Given the description of an element on the screen output the (x, y) to click on. 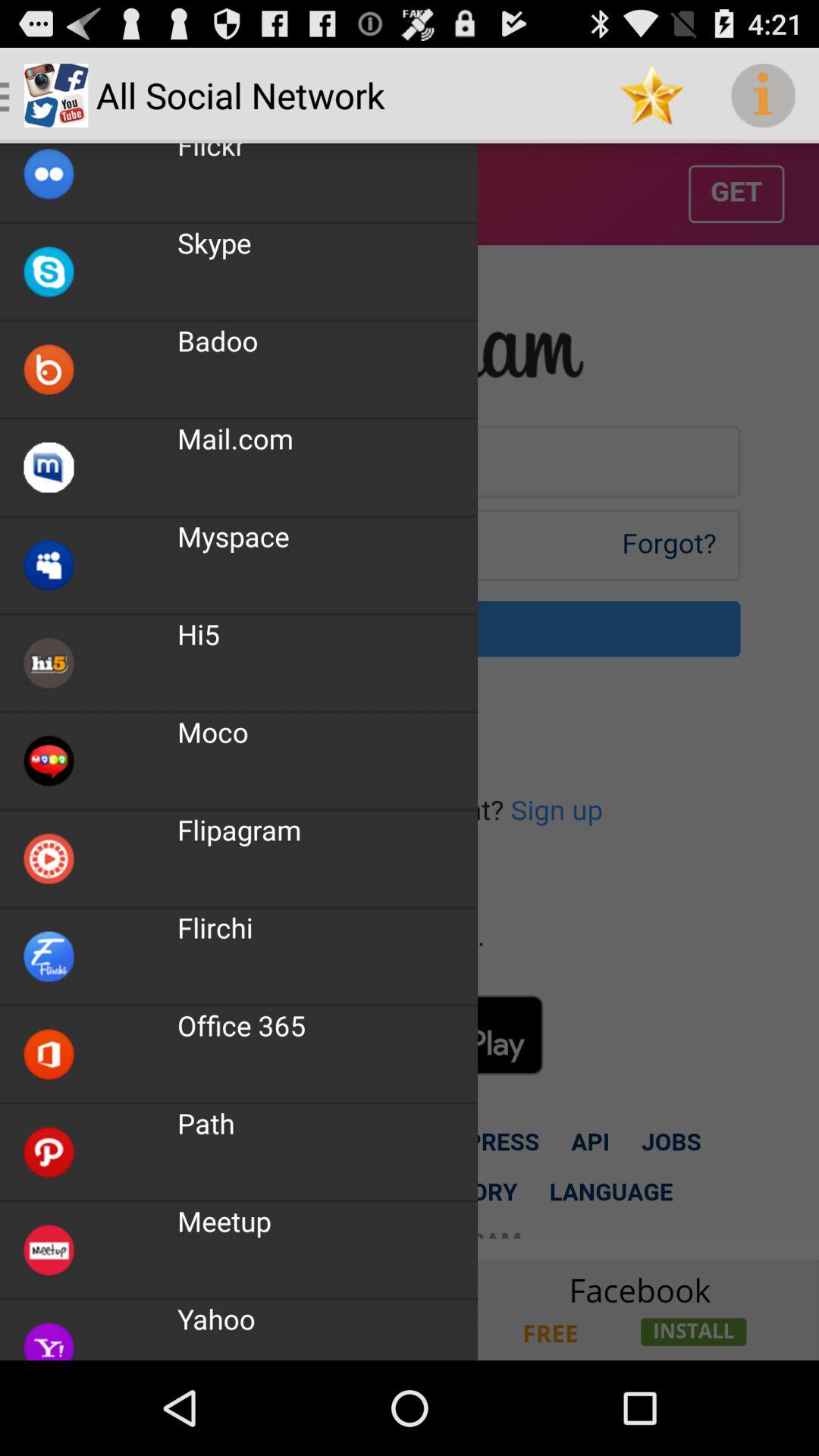
yahoo tab (409, 1309)
